Given the description of an element on the screen output the (x, y) to click on. 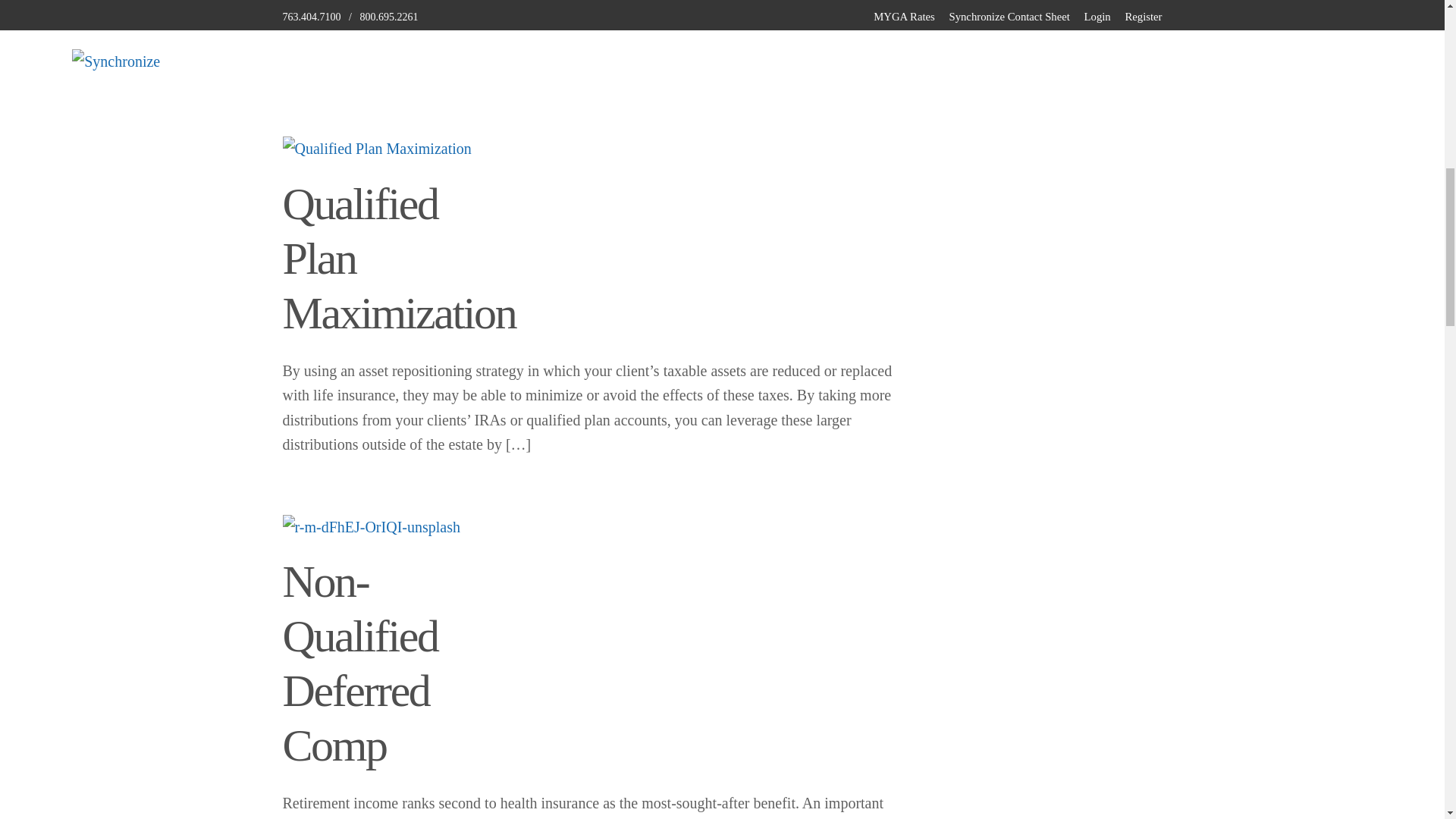
Qualified Plan Maximization (398, 258)
r-m-dFhEJ-OrIQI-unsplash (371, 527)
Qualified Plan Maximization (376, 148)
